Given the description of an element on the screen output the (x, y) to click on. 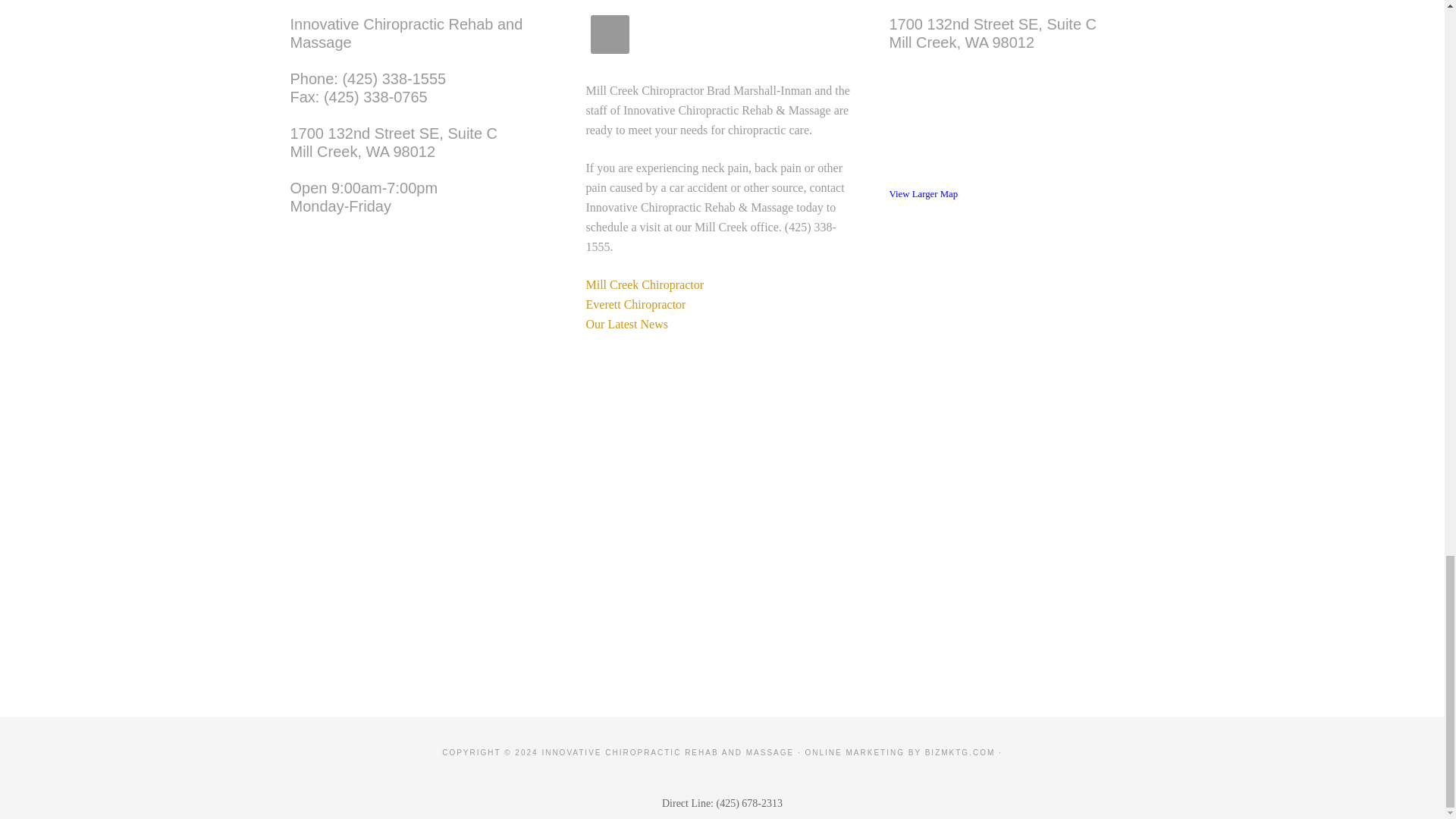
View Larger Map (992, 32)
Everett Chiropractor (923, 194)
Our Latest News (635, 304)
ONLINE MARKETING BY BIZMKTG.COM (625, 323)
Mill Creek Chiropractor (900, 752)
